Given the description of an element on the screen output the (x, y) to click on. 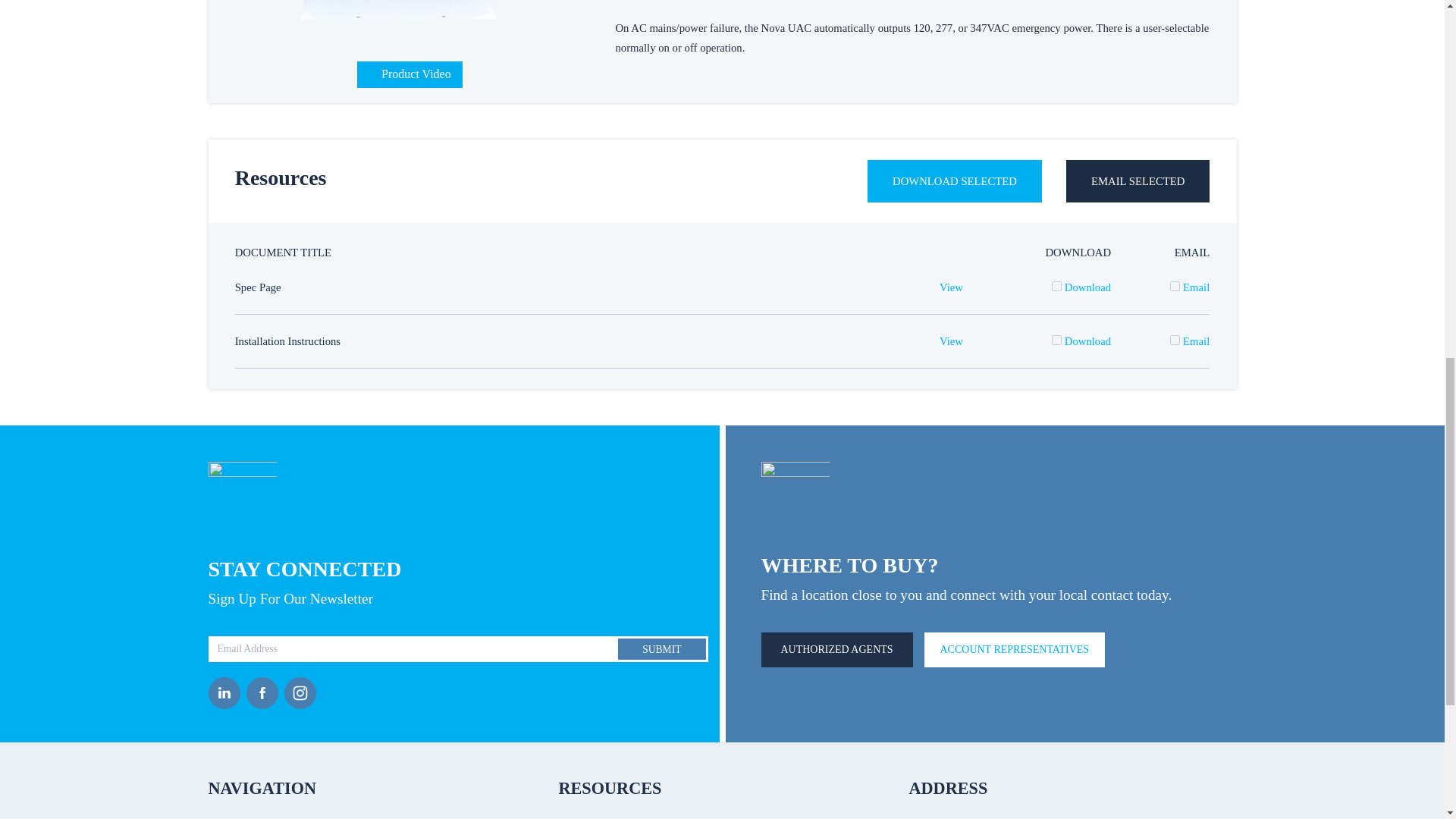
Instagram (302, 693)
LinkedIn (227, 693)
cart-icon (795, 493)
on (1056, 339)
letter-icon (242, 495)
Facebook (264, 693)
on (1174, 339)
on (1056, 286)
on (1174, 286)
Submit (660, 649)
